Given the description of an element on the screen output the (x, y) to click on. 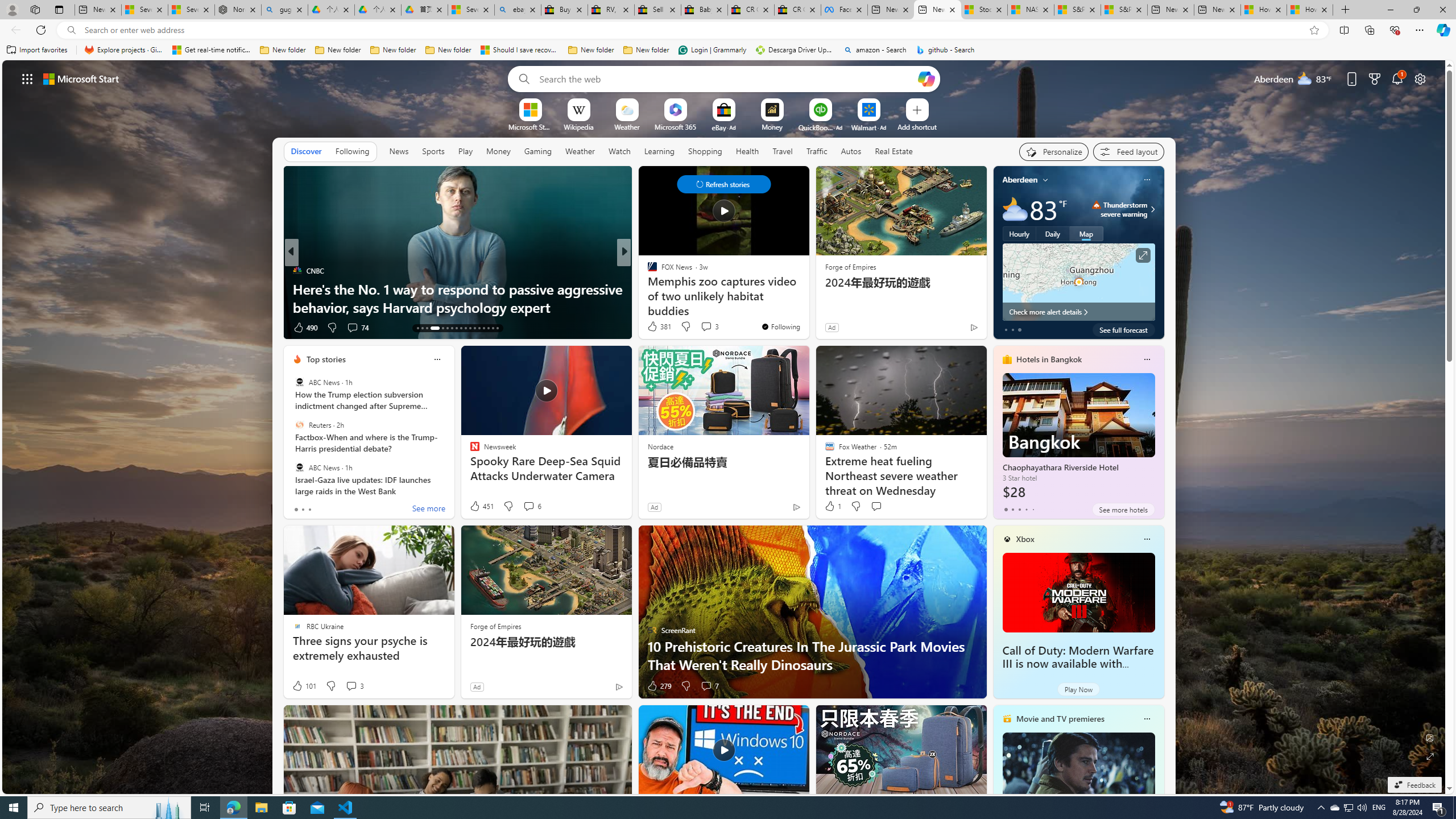
AutomationID: waffle (27, 78)
View comments 19 Comment (698, 327)
Should I save recovered Word documents? - Microsoft Support (519, 49)
Search icon (70, 29)
Action News Jax (647, 288)
Buy Auto Parts & Accessories | eBay (563, 9)
CNN (647, 270)
AutomationID: tab-22 (465, 328)
Xbox (1025, 538)
amazon - Search (875, 49)
